Given the description of an element on the screen output the (x, y) to click on. 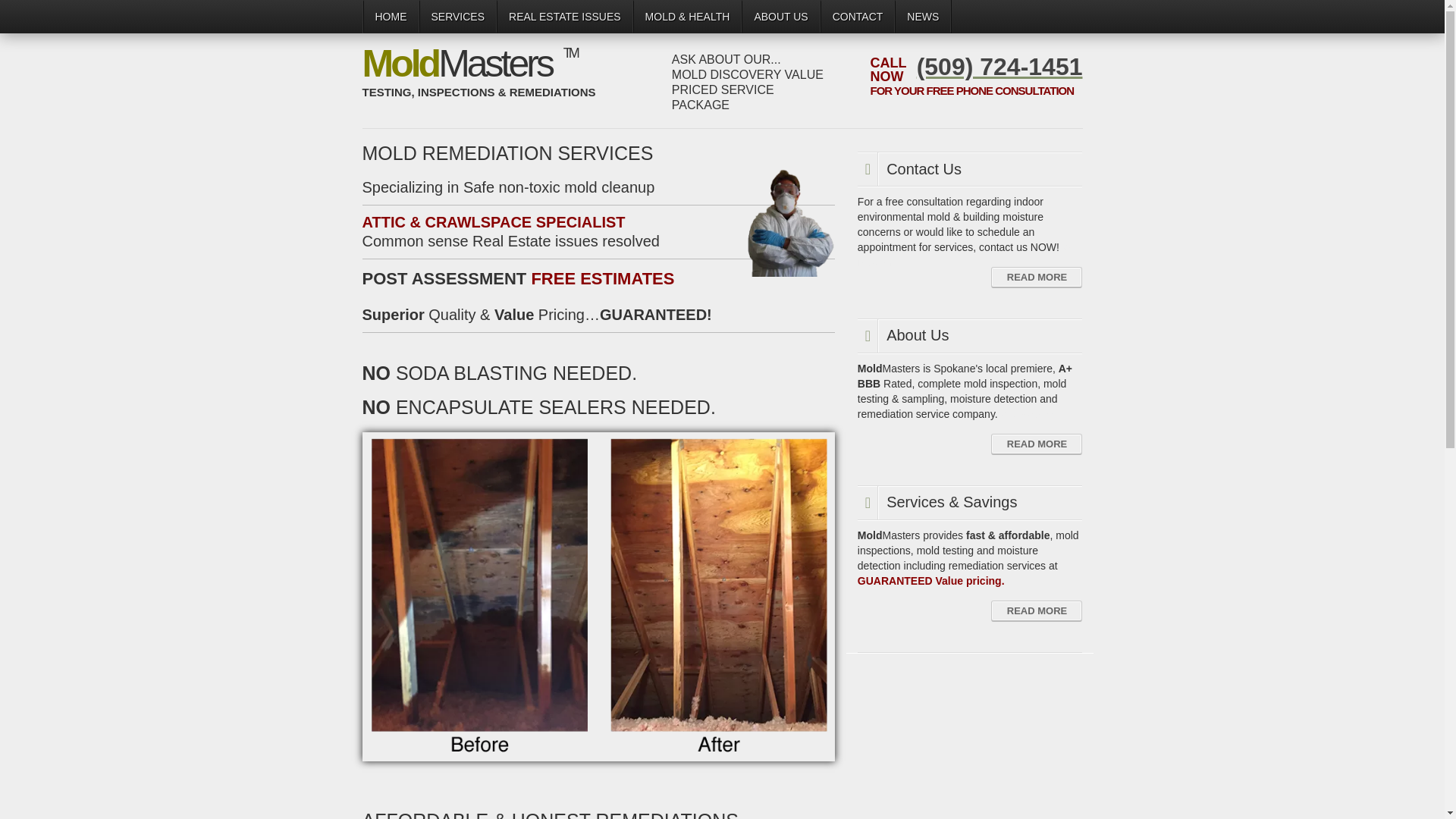
REAL ESTATE ISSUES (564, 16)
HOME (390, 16)
ABOUT US (780, 16)
READ MORE (1036, 277)
SERVICES (457, 16)
READ MORE (1036, 610)
READ MORE (1036, 444)
NEWS (922, 16)
CONTACT (858, 16)
